Given the description of an element on the screen output the (x, y) to click on. 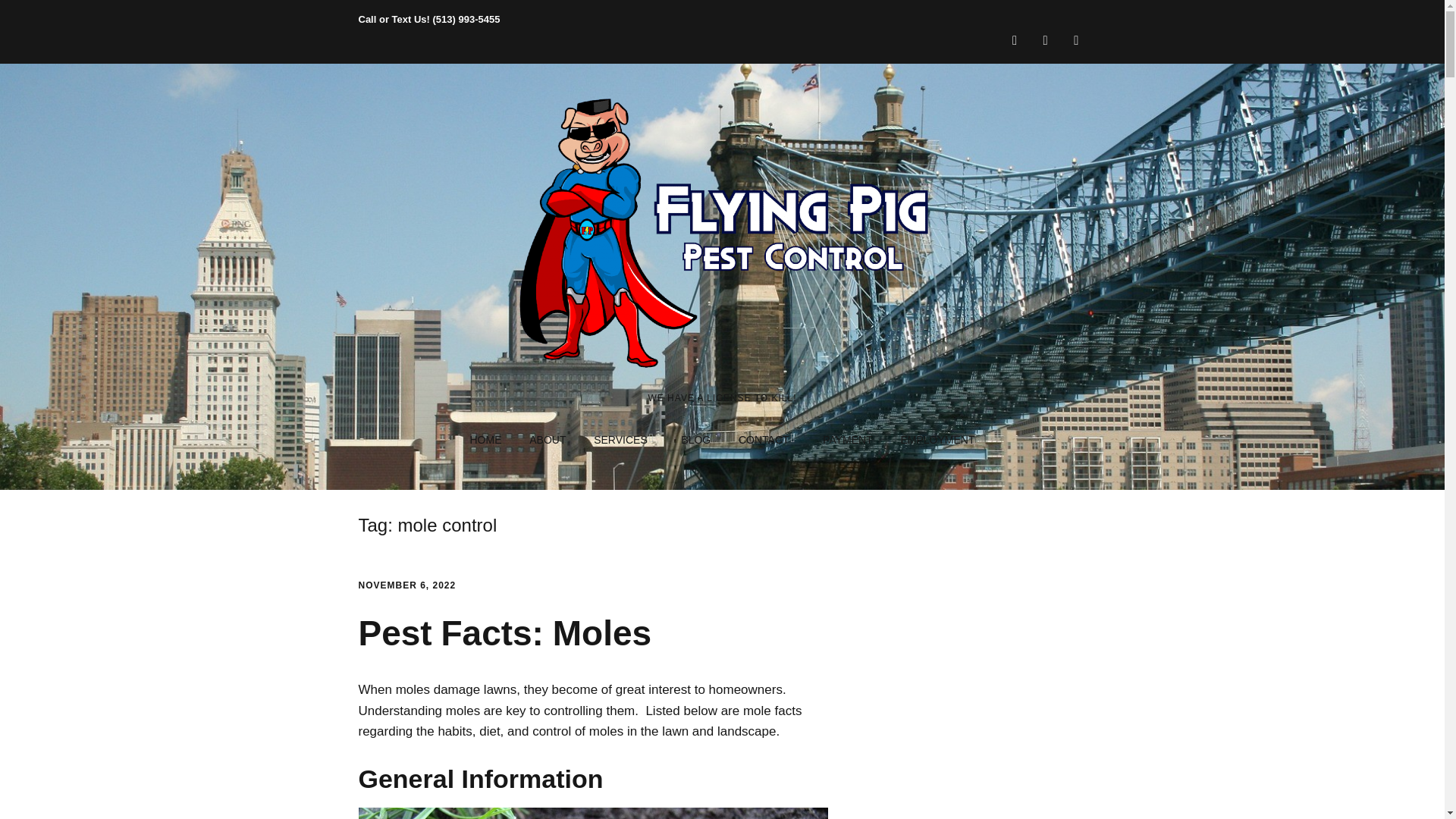
NOVEMBER 6, 2022 (406, 584)
HOME (485, 440)
EMPLOYMENT (937, 440)
ABOUT (547, 440)
BLOG (695, 440)
Pest Facts: Moles (504, 632)
CONTACT (766, 439)
PAYMENT (847, 440)
SERVICES (622, 439)
